Given the description of an element on the screen output the (x, y) to click on. 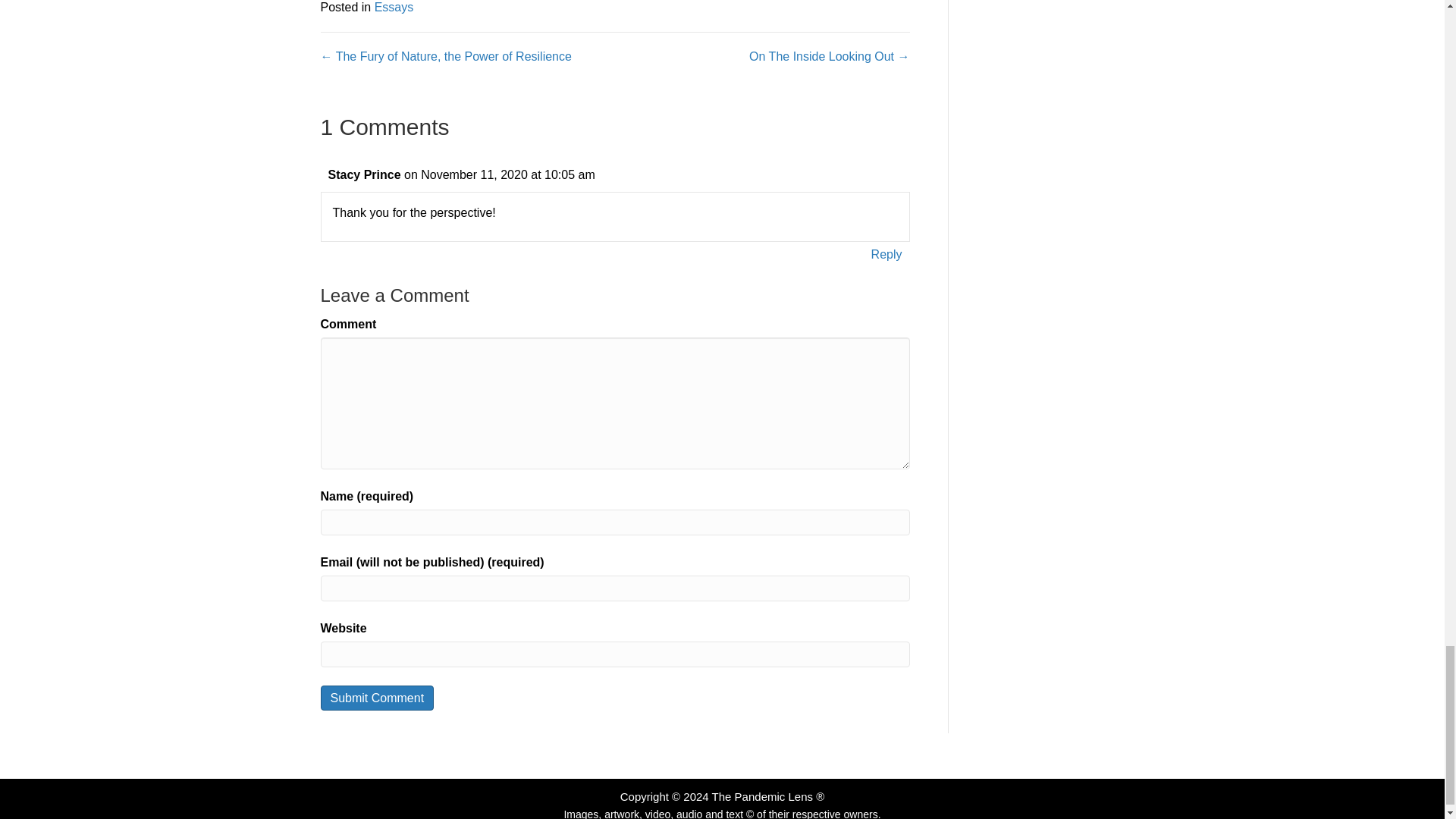
Reply (886, 254)
Essays (393, 6)
Submit Comment (376, 697)
Submit Comment (376, 697)
